Given the description of an element on the screen output the (x, y) to click on. 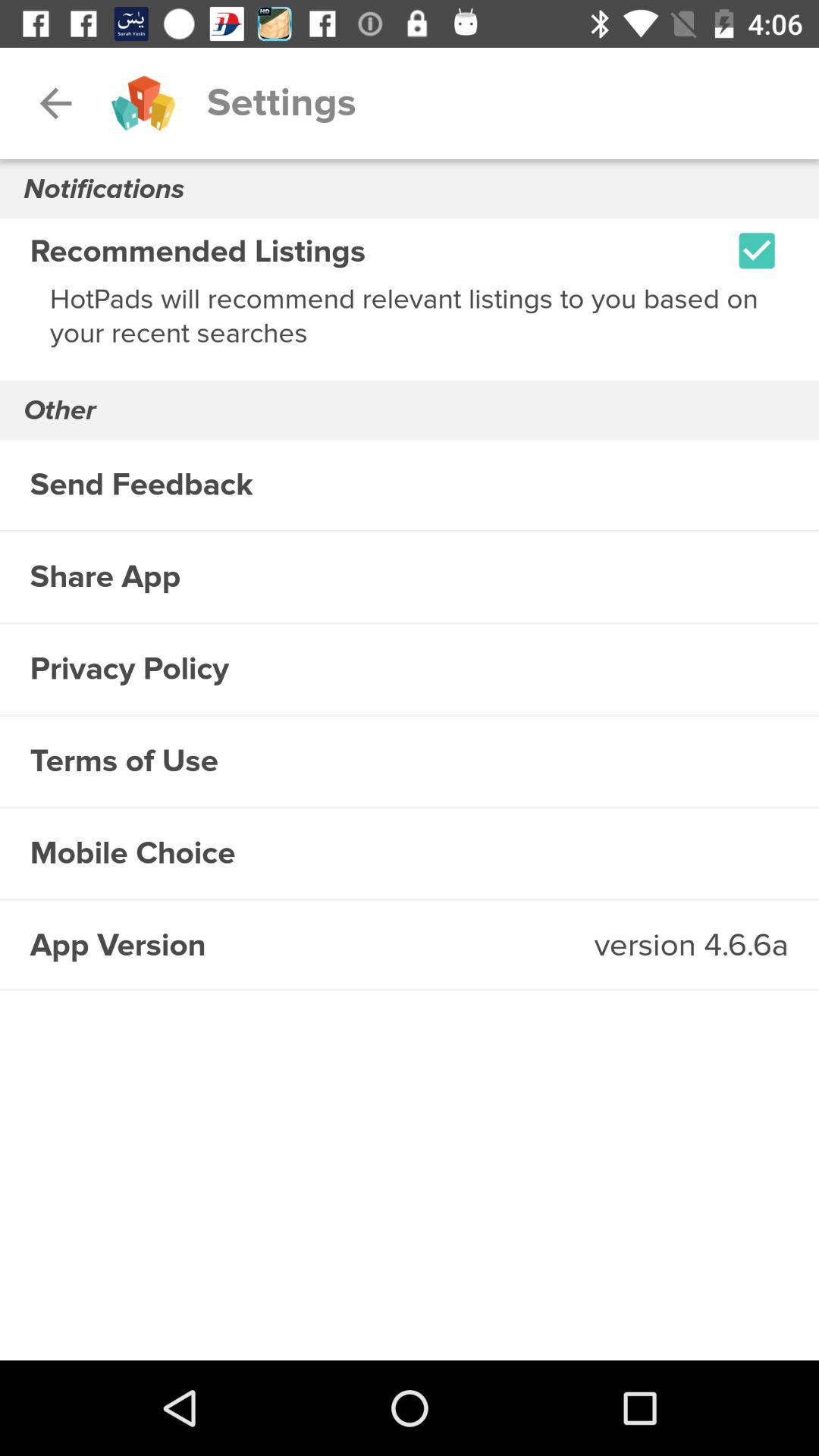
swipe to mobile choice (409, 853)
